Given the description of an element on the screen output the (x, y) to click on. 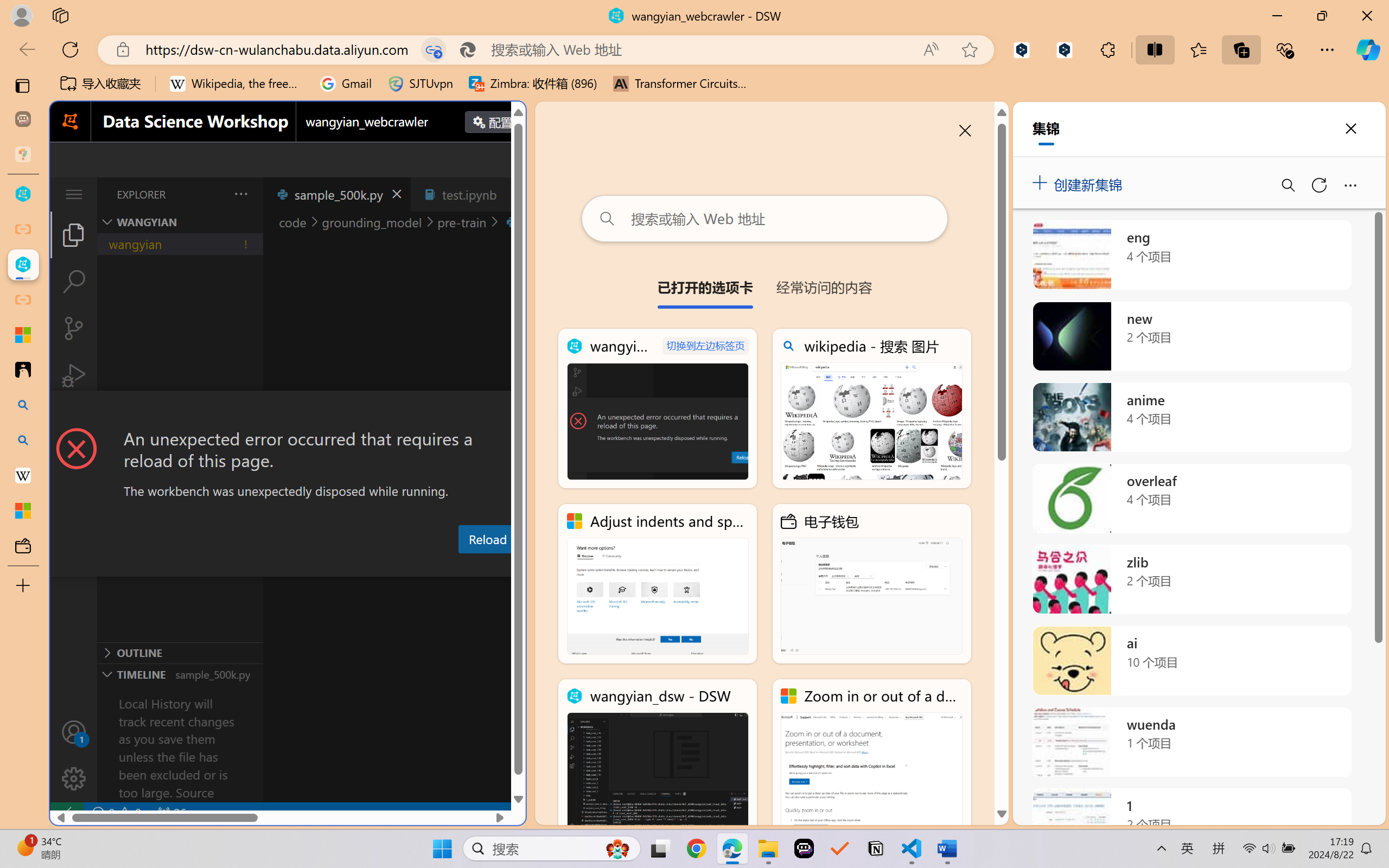
Class: menubar compact overflow-menu-only (73, 194)
wangyian_dsw - DSW (22, 194)
Close Dialog (520, 410)
Explorer actions (212, 194)
Transformer Circuits Thread (680, 83)
Tab actions (512, 194)
